Given the description of an element on the screen output the (x, y) to click on. 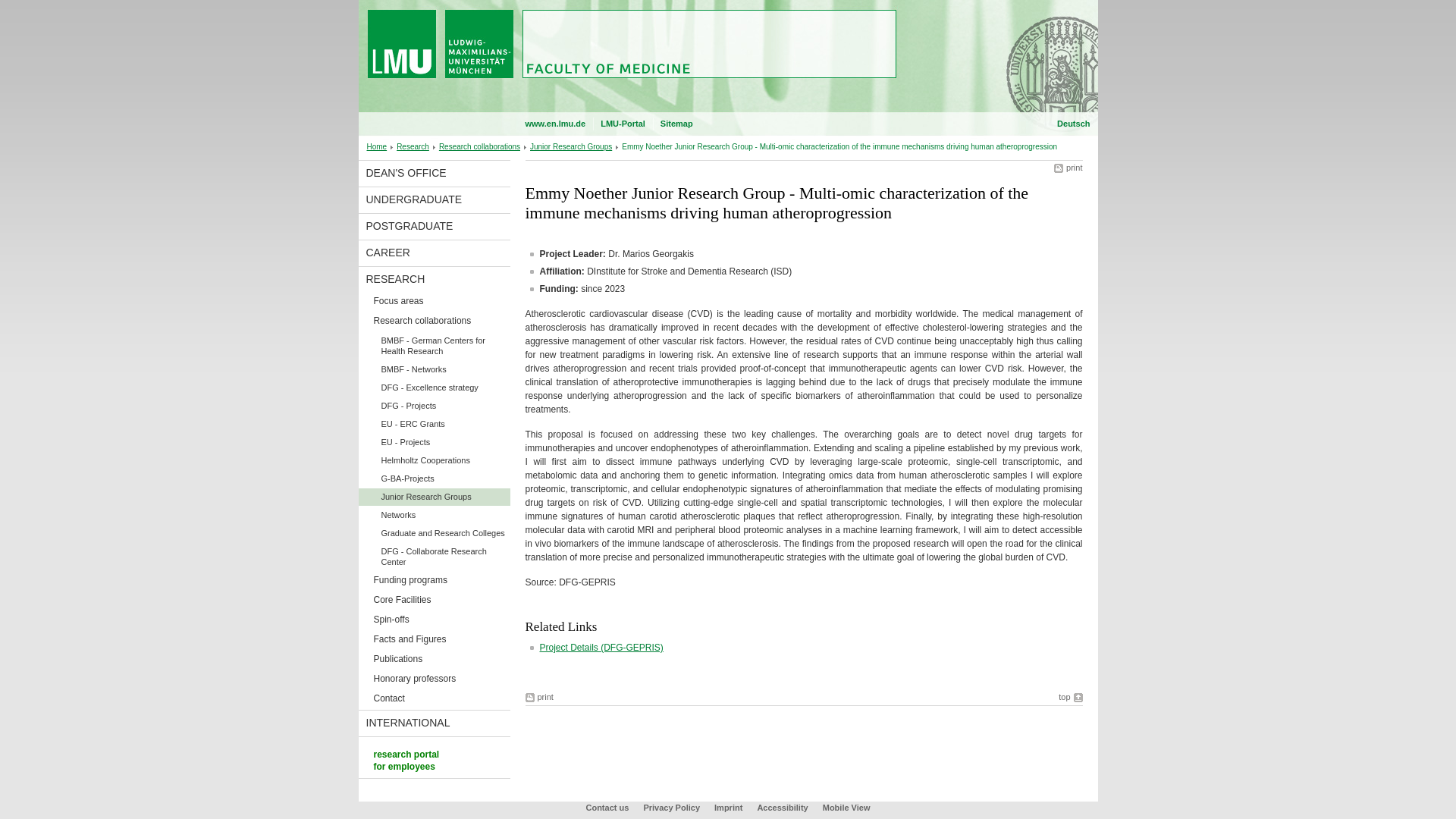
BMBF - German Centers for Health Research (433, 346)
www.en.lmu.de (554, 123)
Funding programs (433, 580)
print (538, 696)
Sitemap (677, 123)
Deutsch (1073, 123)
Privacy Policy (671, 807)
Graduate and Research Colleges (433, 533)
print (1067, 167)
Helmholtz Cooperations (433, 460)
